Given the description of an element on the screen output the (x, y) to click on. 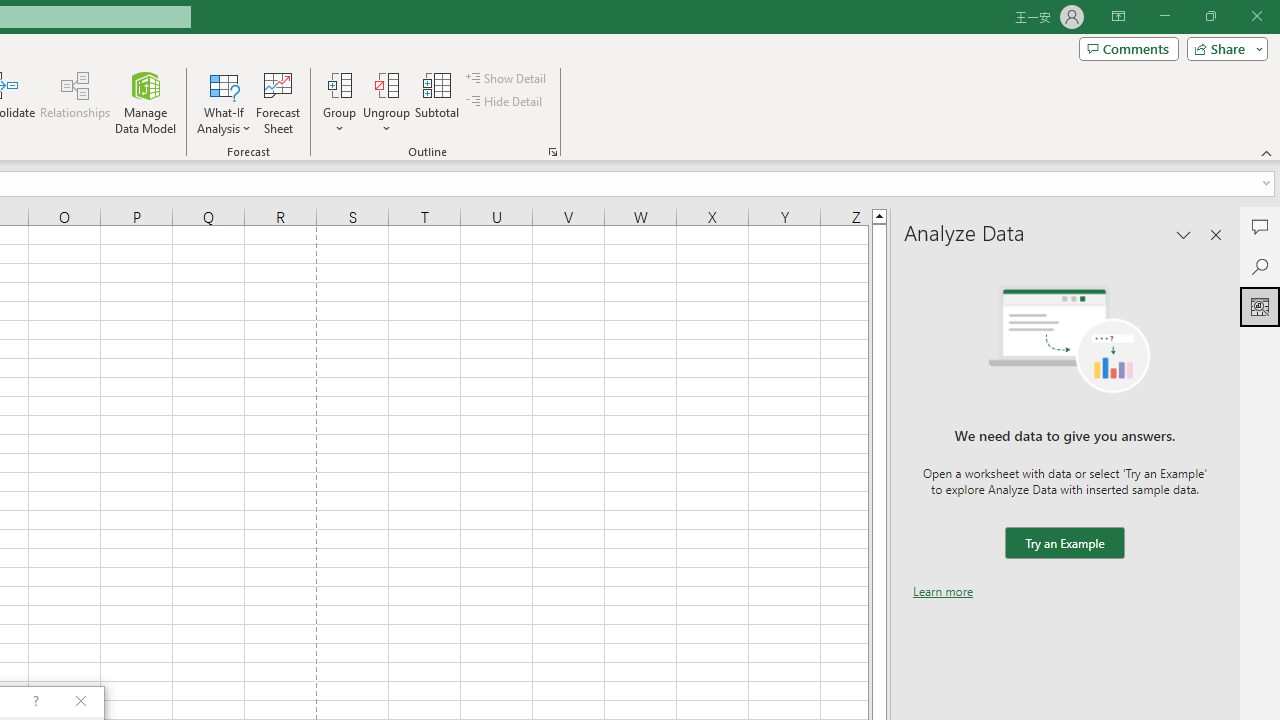
What-If Analysis (223, 102)
Subtotal (437, 102)
Learn more (943, 591)
Group and Outline Settings (552, 151)
Relationships (75, 102)
Hide Detail (505, 101)
Search (1260, 266)
Analyze Data (1260, 306)
We need data to give you answers. Try an Example (1064, 543)
